Given the description of an element on the screen output the (x, y) to click on. 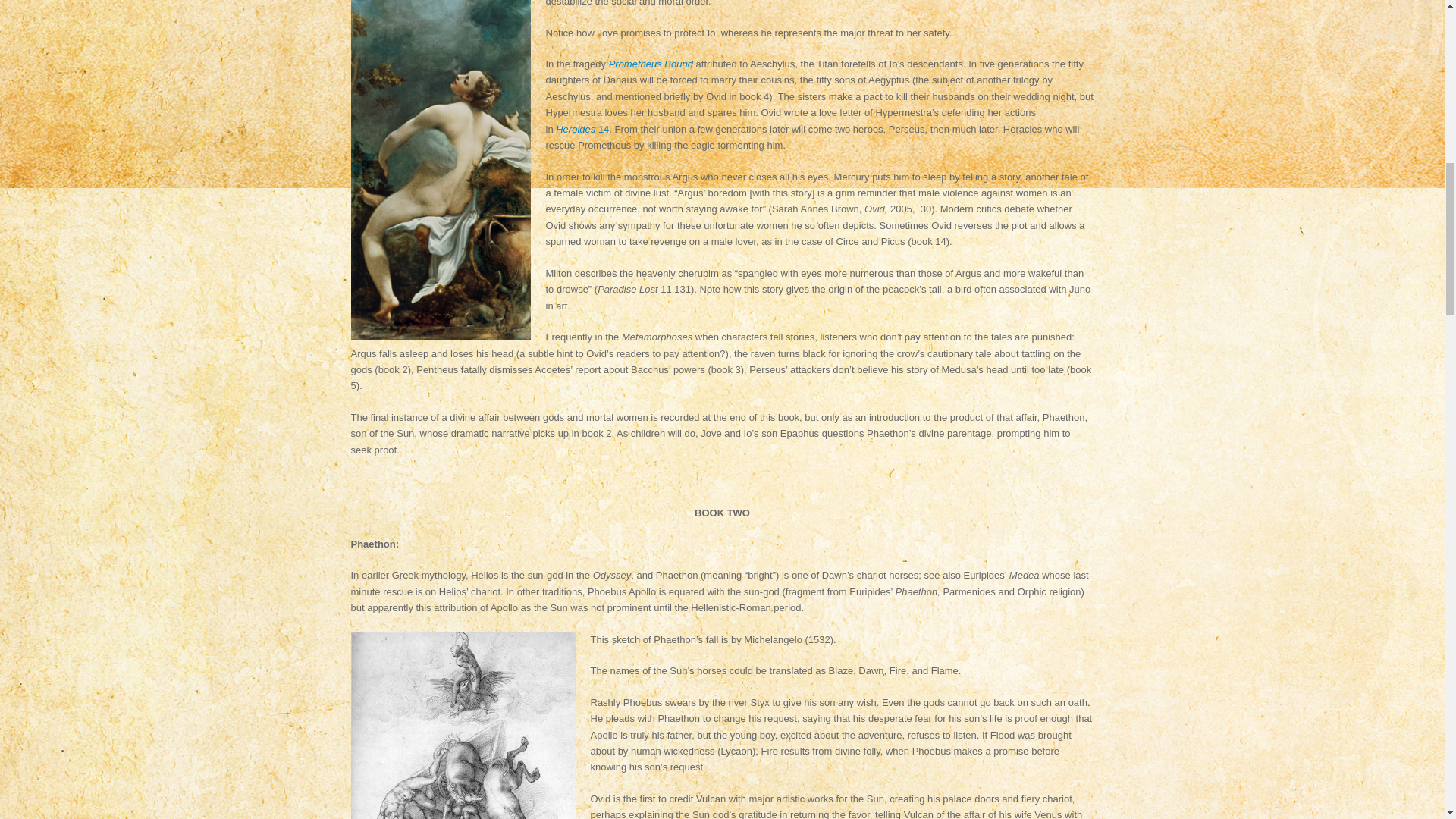
Heroides 14 (582, 129)
Prometheus Bound (650, 63)
